Given the description of an element on the screen output the (x, y) to click on. 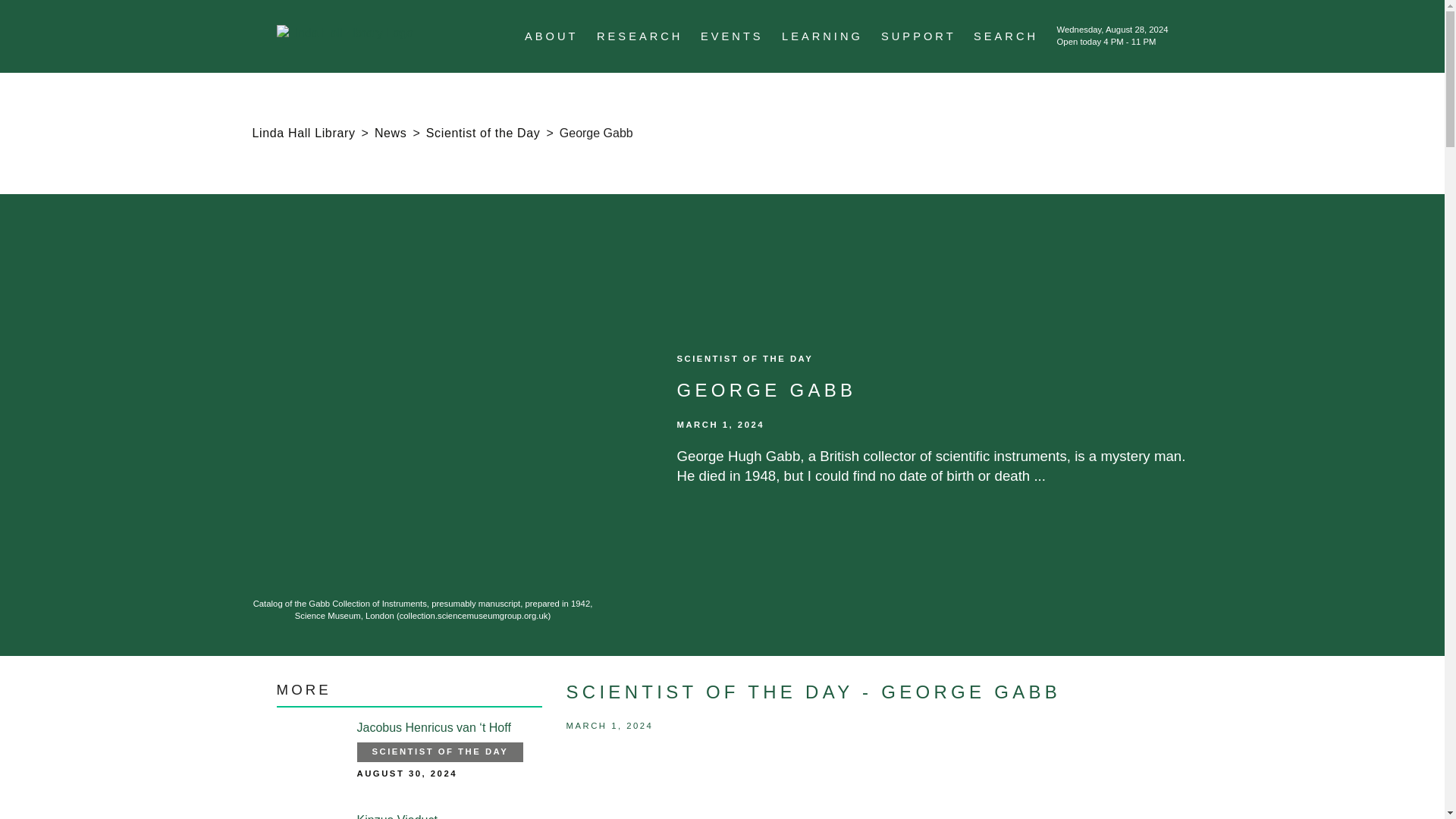
ABOUT (551, 36)
RESEARCH (639, 36)
EVENTS (731, 36)
LEARNING (822, 36)
